Given the description of an element on the screen output the (x, y) to click on. 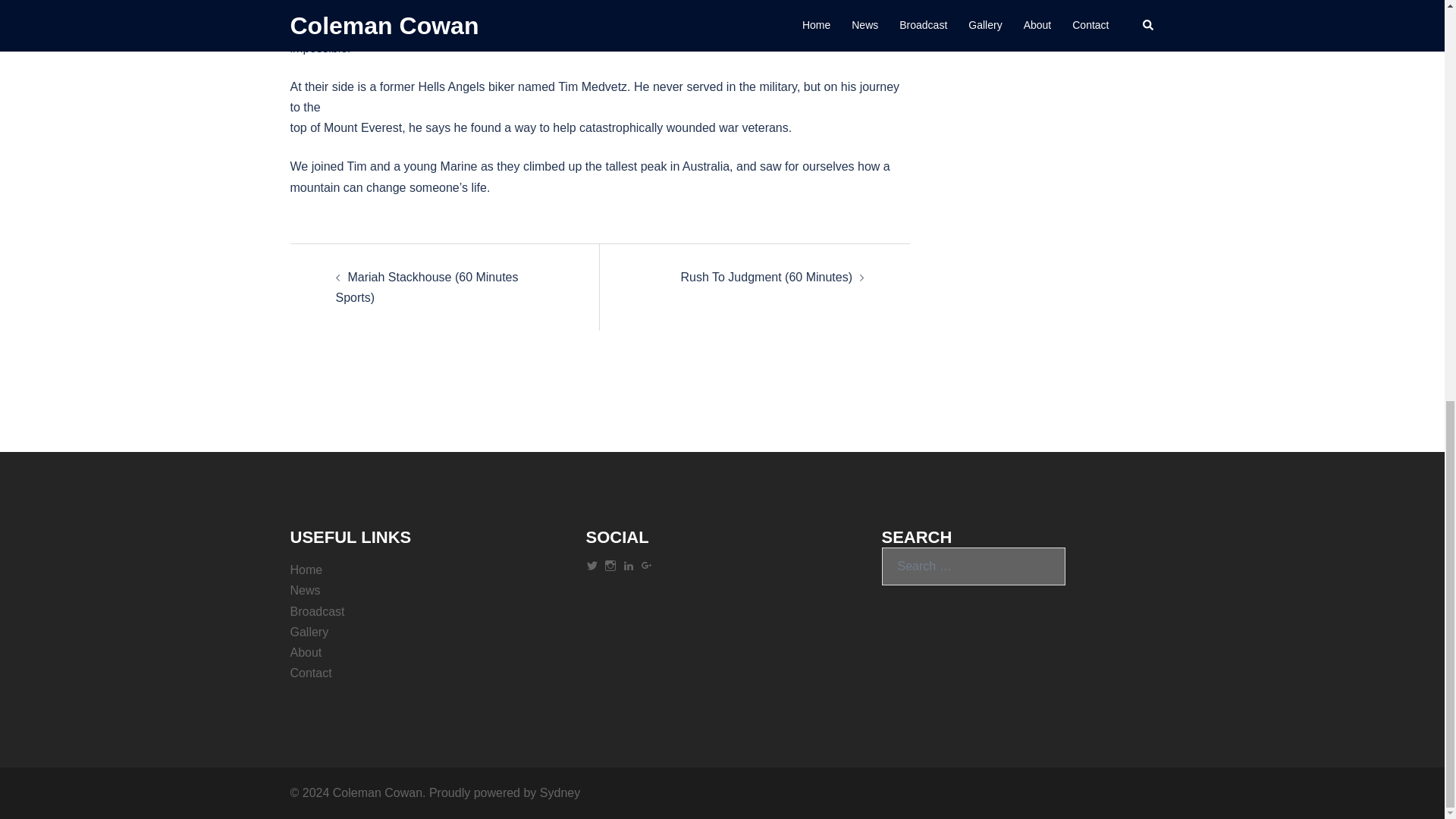
About (305, 652)
Sydney (559, 792)
Gallery (309, 631)
Home (305, 569)
Broadcast (316, 611)
Contact (310, 672)
News (304, 590)
